Given the description of an element on the screen output the (x, y) to click on. 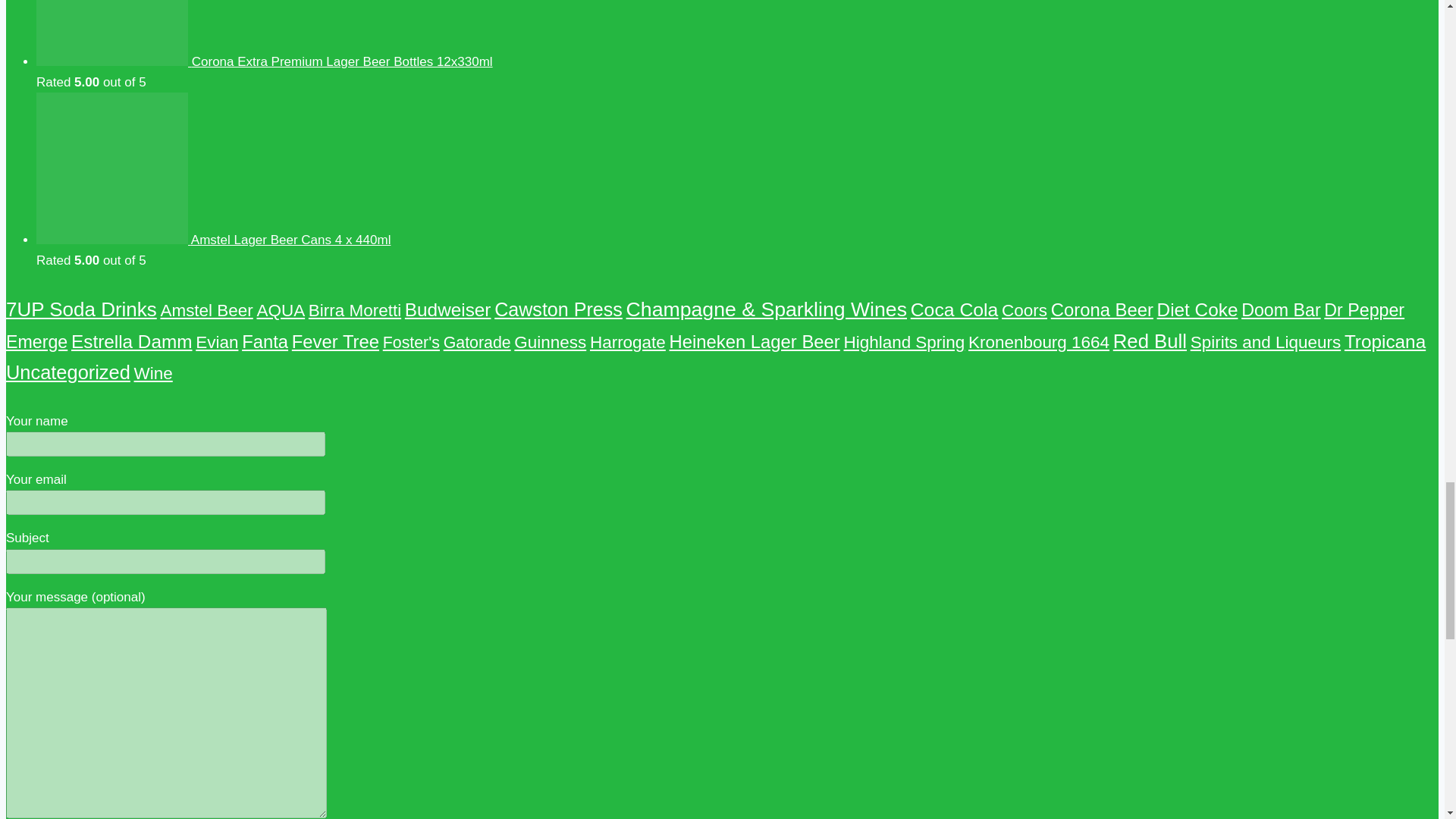
Amstel Beer (205, 310)
7UP Soda Drinks (81, 309)
Coca Cola (954, 309)
Budweiser (448, 309)
Corona Extra Premium Lager Beer Bottles 12x330ml (264, 61)
AQUA (280, 310)
Birra Moretti (354, 310)
Amstel Lager Beer Cans 4 x 440ml (213, 239)
Cawston Press (559, 309)
